Given the description of an element on the screen output the (x, y) to click on. 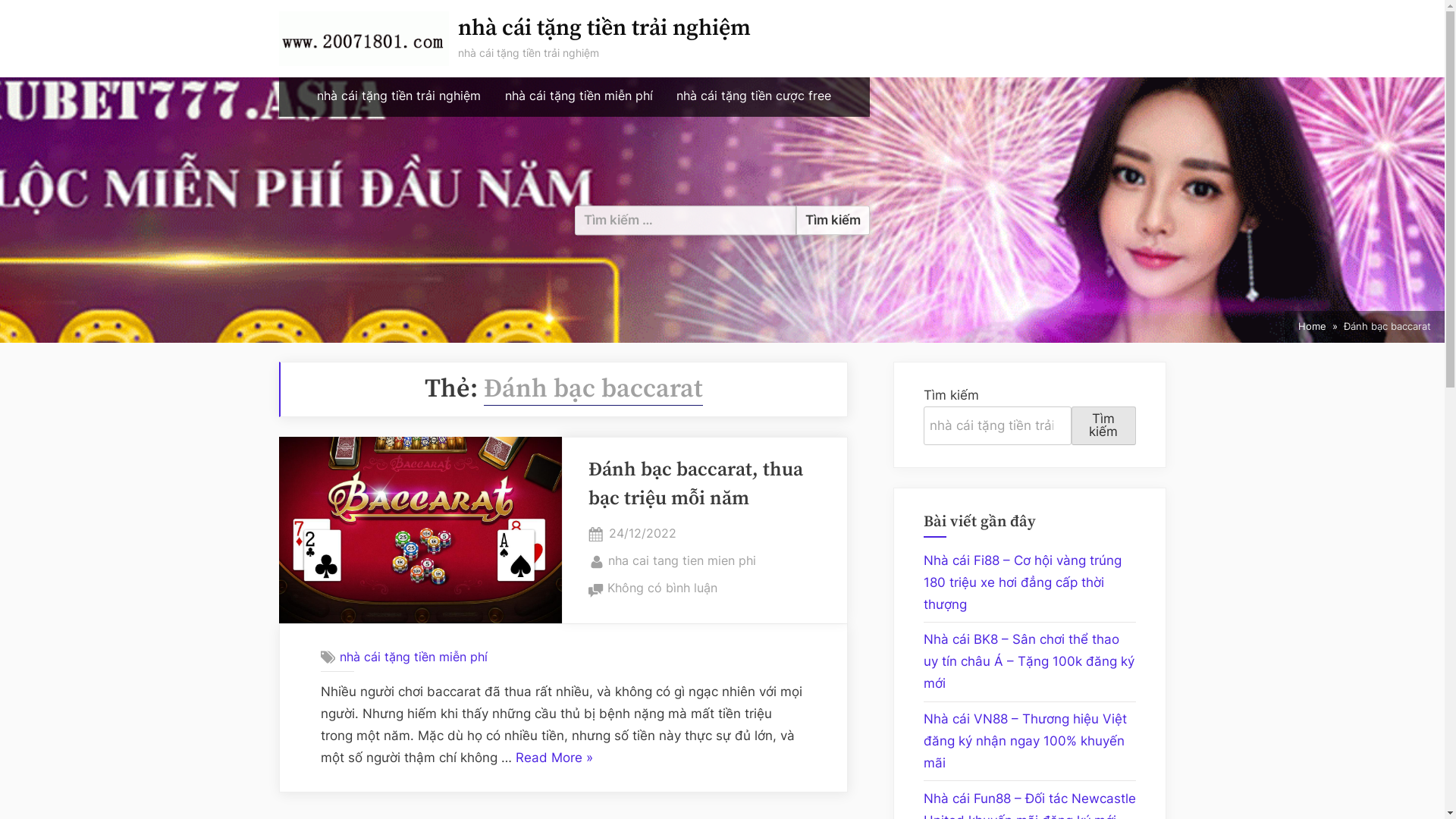
Home Element type: text (1312, 326)
By
nha cai tang tien mien phi Element type: text (682, 560)
Posted on
24/12/2022 Element type: text (642, 533)
